Given the description of an element on the screen output the (x, y) to click on. 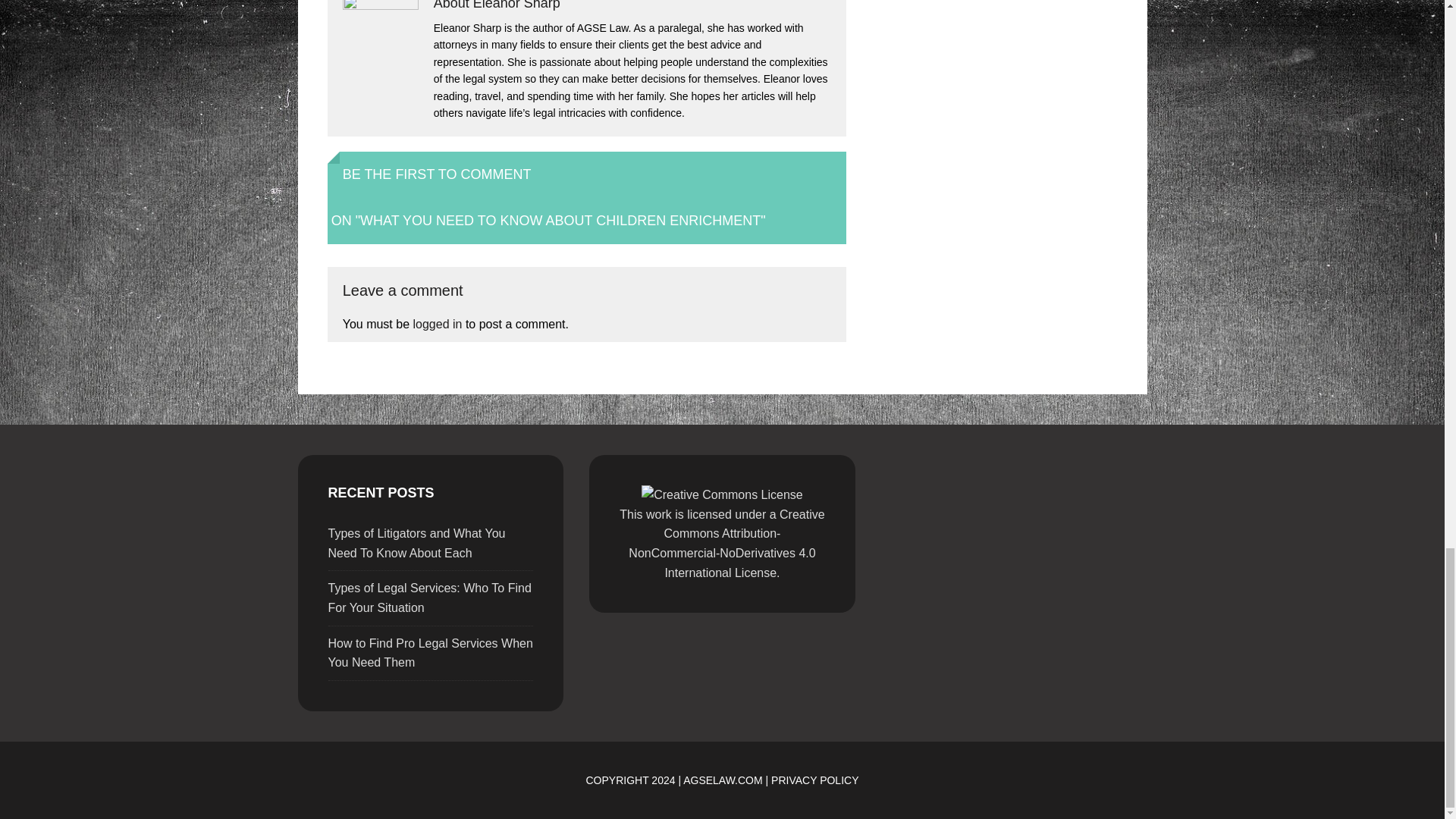
Types of Litigators and What You Need To Know About Each (416, 543)
About Eleanor Sharp (496, 5)
Types of Legal Services: Who To Find For Your Situation (429, 597)
logged in (436, 323)
PRIVACY POLICY (815, 779)
How to Find Pro Legal Services When You Need Them (429, 653)
